Given the description of an element on the screen output the (x, y) to click on. 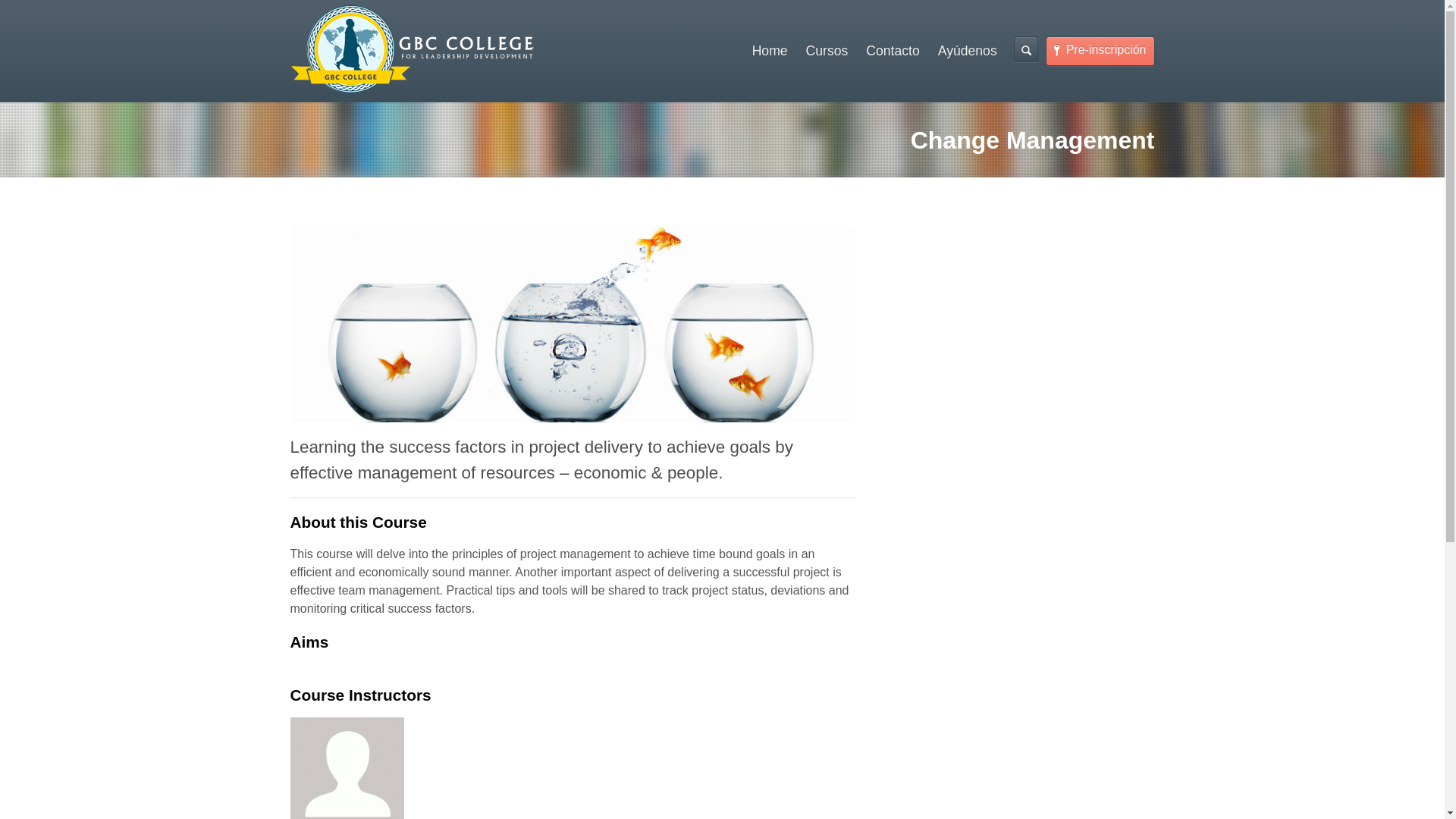
Contacto (892, 51)
Home (769, 51)
Cursos (826, 51)
